Given the description of an element on the screen output the (x, y) to click on. 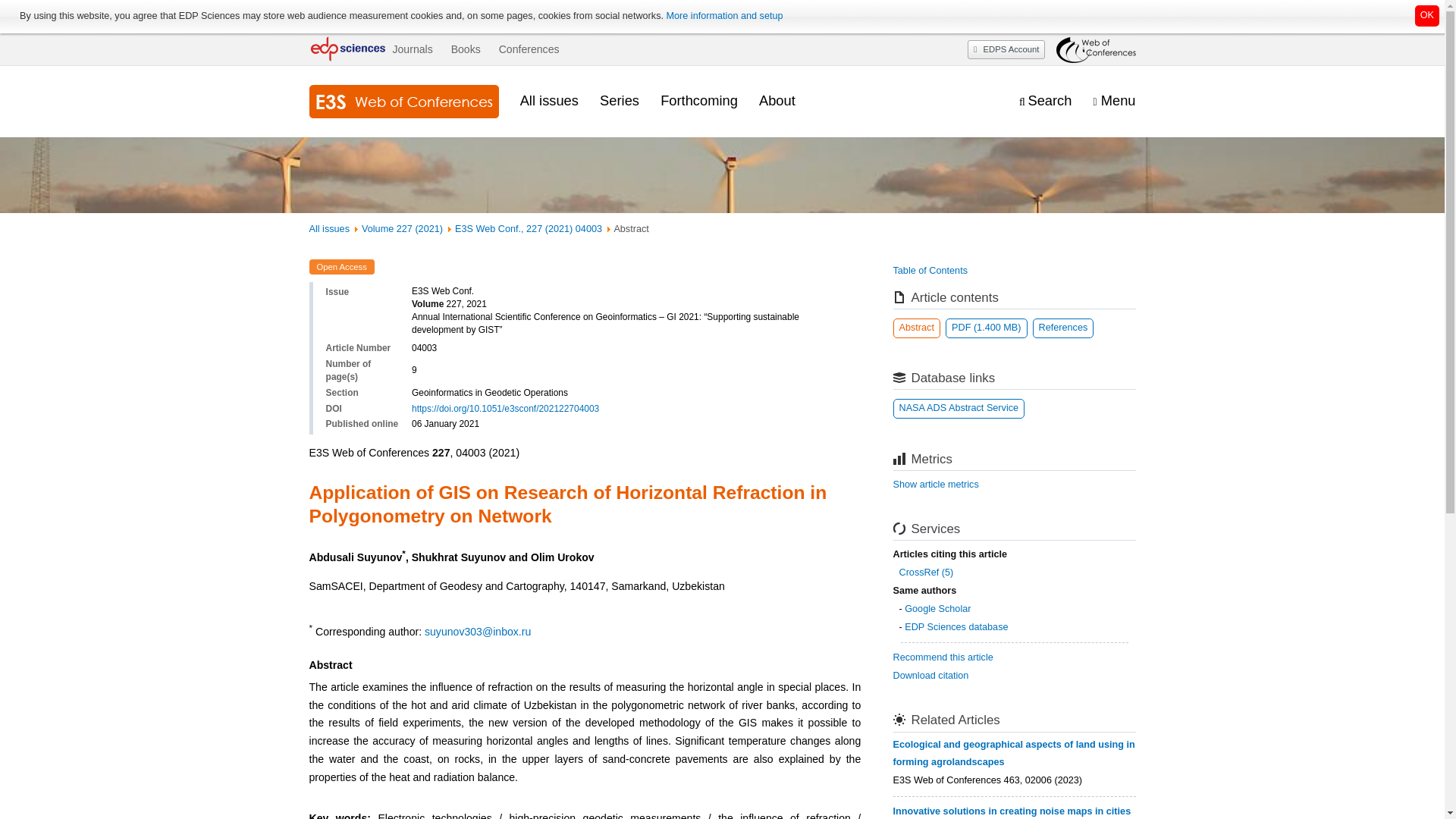
Display the search engine (1045, 101)
More information and setup (724, 15)
Journals (411, 49)
Journal homepage (403, 101)
Click to close this notification (1427, 15)
Abstract (916, 328)
Conferences (529, 49)
Books (465, 49)
OK (1427, 15)
